Given the description of an element on the screen output the (x, y) to click on. 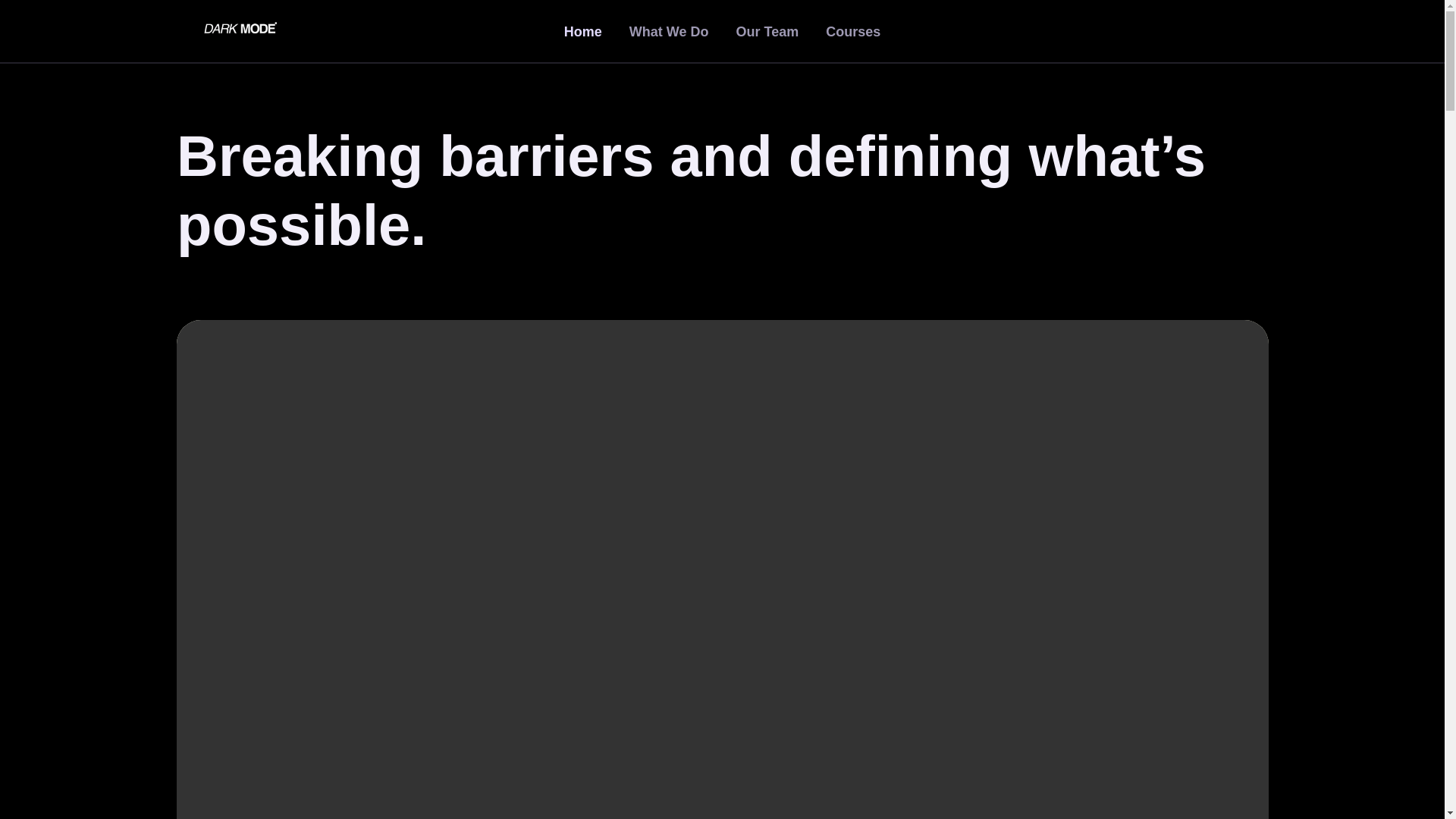
What We Do (668, 31)
Courses (852, 31)
Our Team (766, 31)
Home (582, 31)
